Given the description of an element on the screen output the (x, y) to click on. 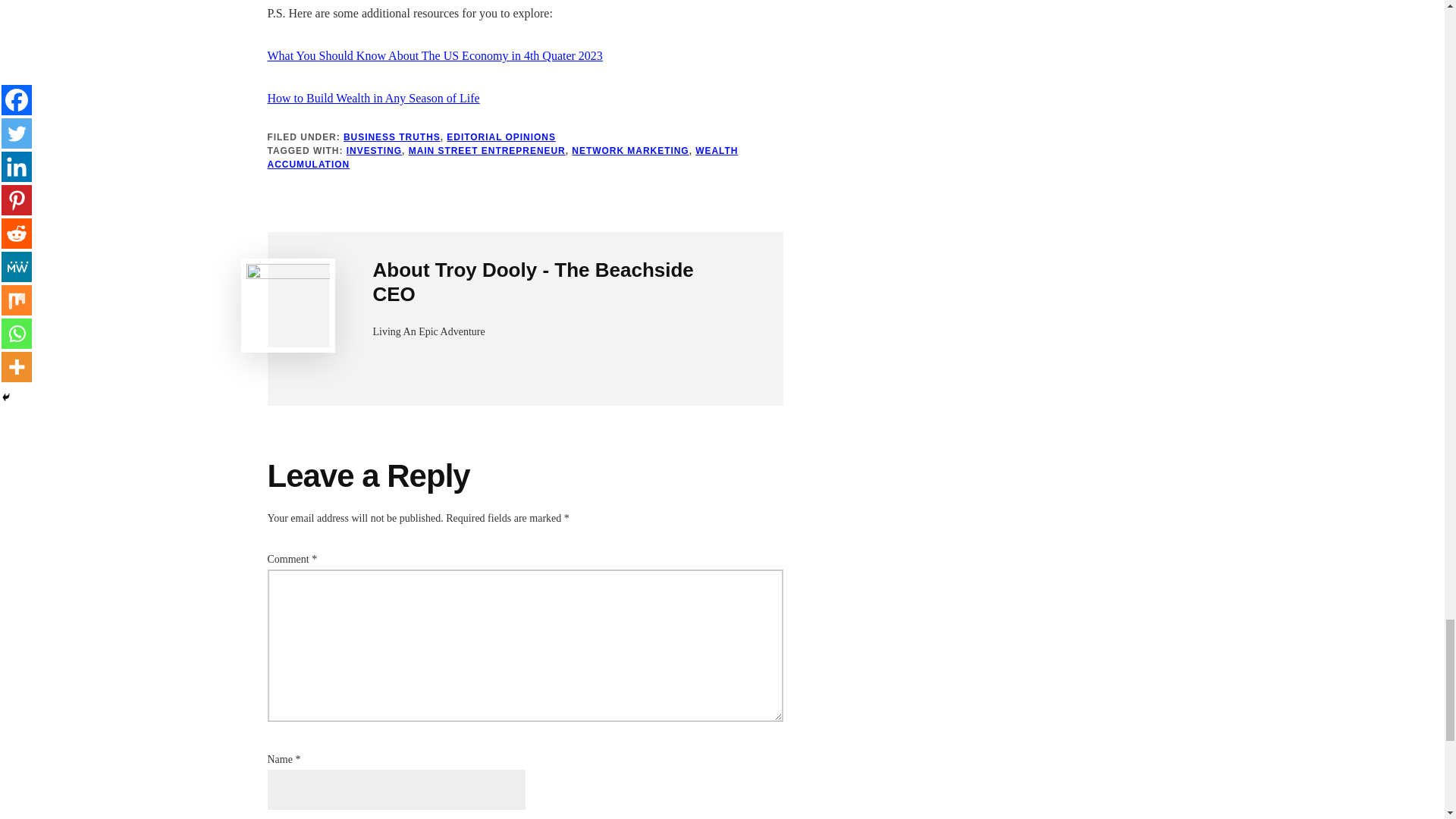
EDITORIAL OPINIONS (501, 136)
What You Should Know About The US Economy in 4th Quater 2023 (434, 55)
BUSINESS TRUTHS (392, 136)
What You Should Know About The US Economy in 4th Quater 2023 (434, 55)
MAIN STREET ENTREPRENEUR (487, 150)
WEALTH ACCUMULATION (502, 157)
How to Build Wealth in Any Season of Life (372, 97)
INVESTING (373, 150)
NETWORK MARKETING (630, 150)
How to Build Wealth in Any Season of Life (372, 97)
